Given the description of an element on the screen output the (x, y) to click on. 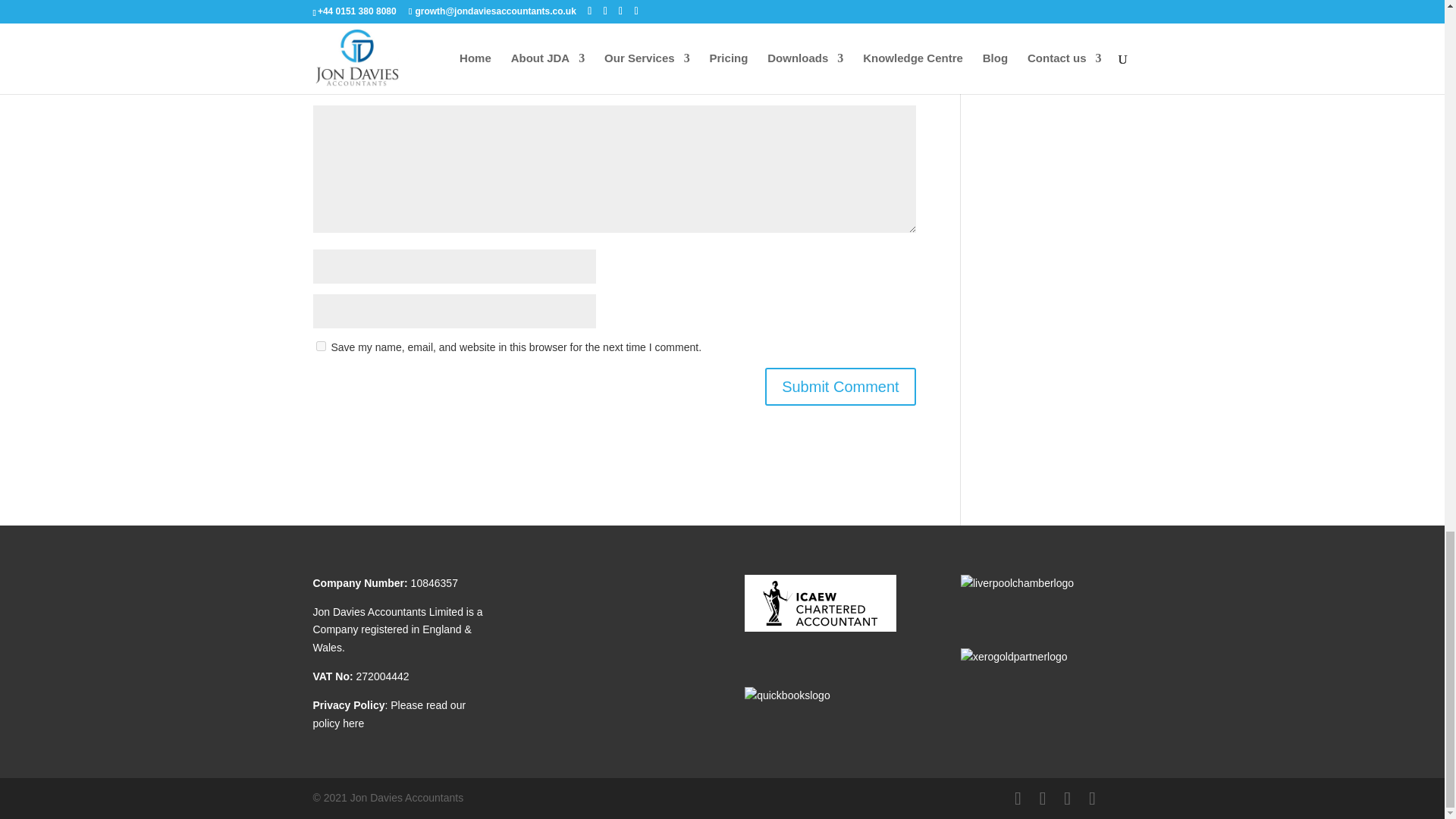
Submit Comment (840, 386)
yes (319, 346)
